Given the description of an element on the screen output the (x, y) to click on. 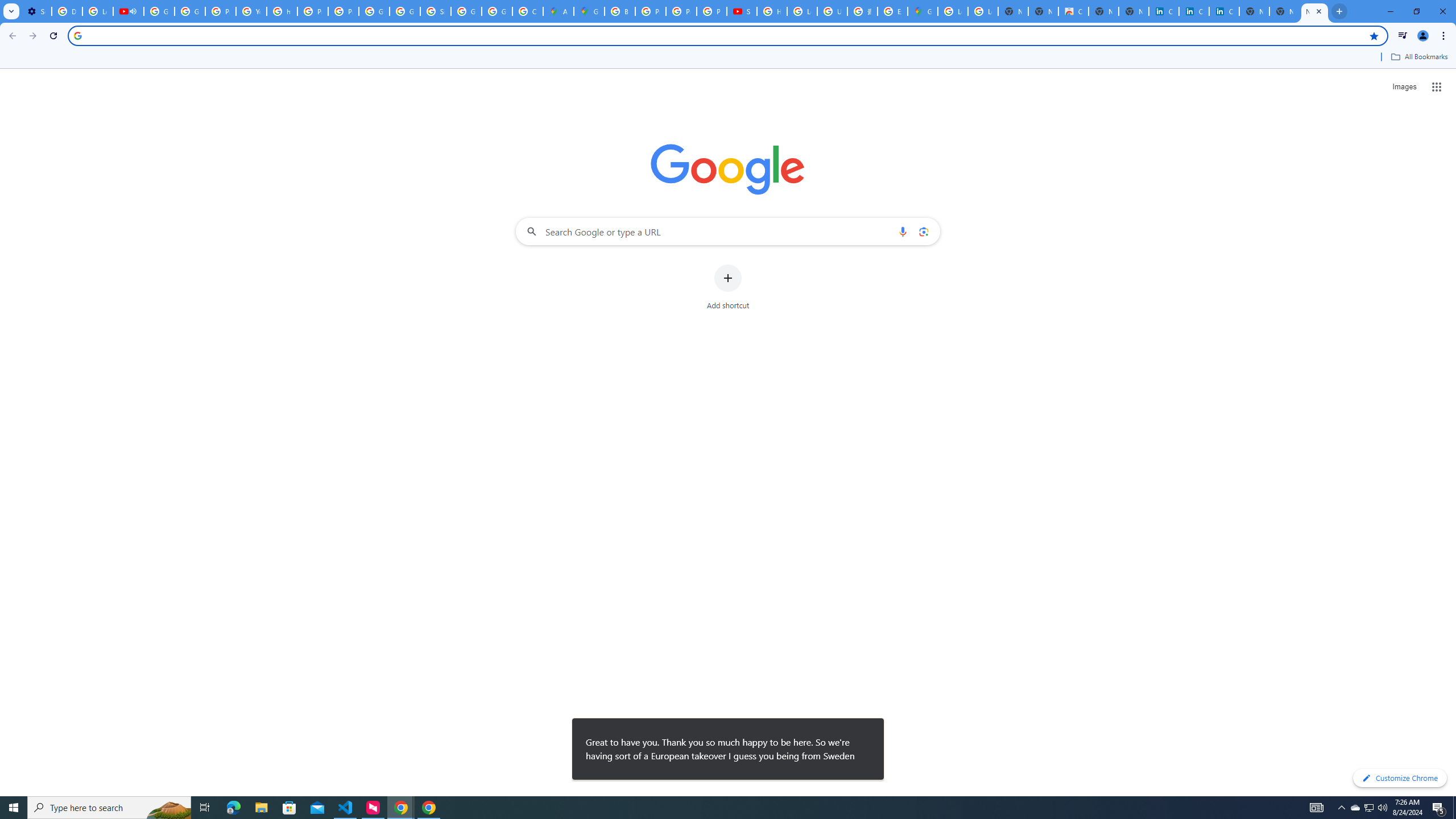
Blogger Policies and Guidelines - Transparency Center (619, 11)
Subscriptions - YouTube (741, 11)
New Tab (1314, 11)
Privacy Help Center - Policies Help (220, 11)
Cookie Policy | LinkedIn (1193, 11)
Cookie Policy | LinkedIn (1163, 11)
